Given the description of an element on the screen output the (x, y) to click on. 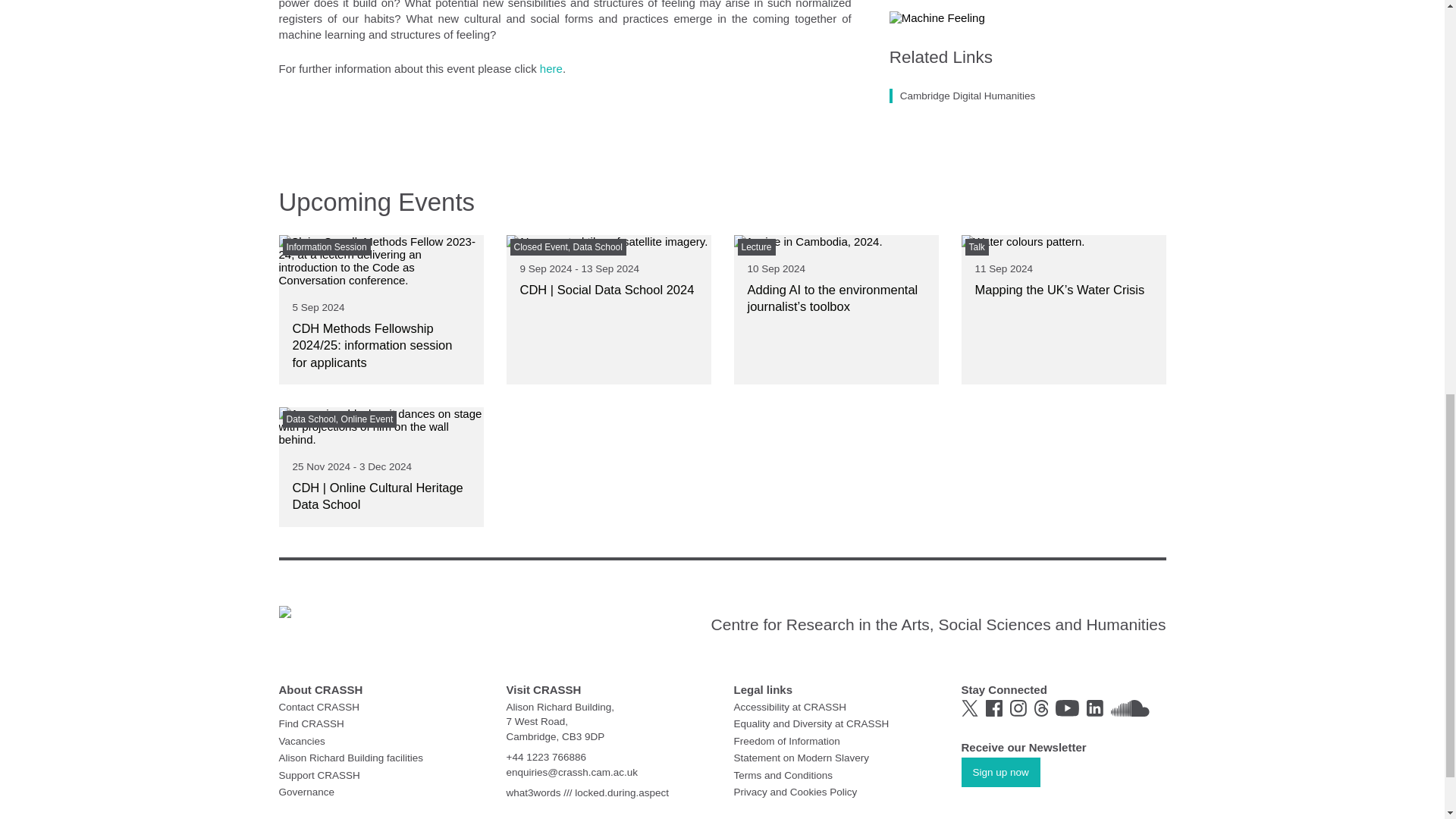
Support CRASSH (319, 774)
Accessibility at CRASSH (790, 706)
Contact CRASSH (319, 706)
Alison Richard Building facilities (351, 757)
here (551, 68)
Governance (306, 791)
Find CRASSH (311, 723)
Vacancies (301, 740)
